Given the description of an element on the screen output the (x, y) to click on. 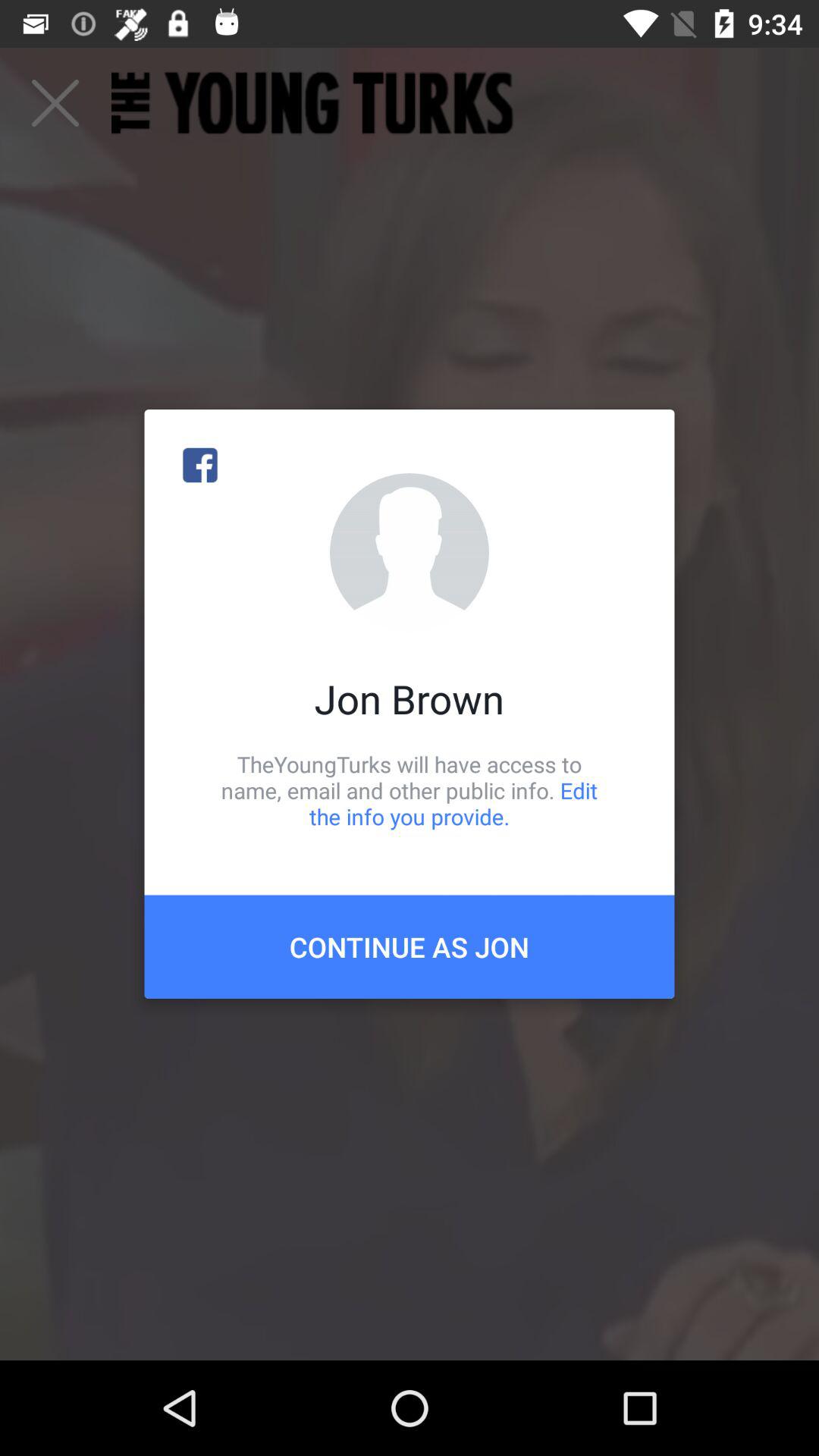
click item above continue as jon item (409, 790)
